Given the description of an element on the screen output the (x, y) to click on. 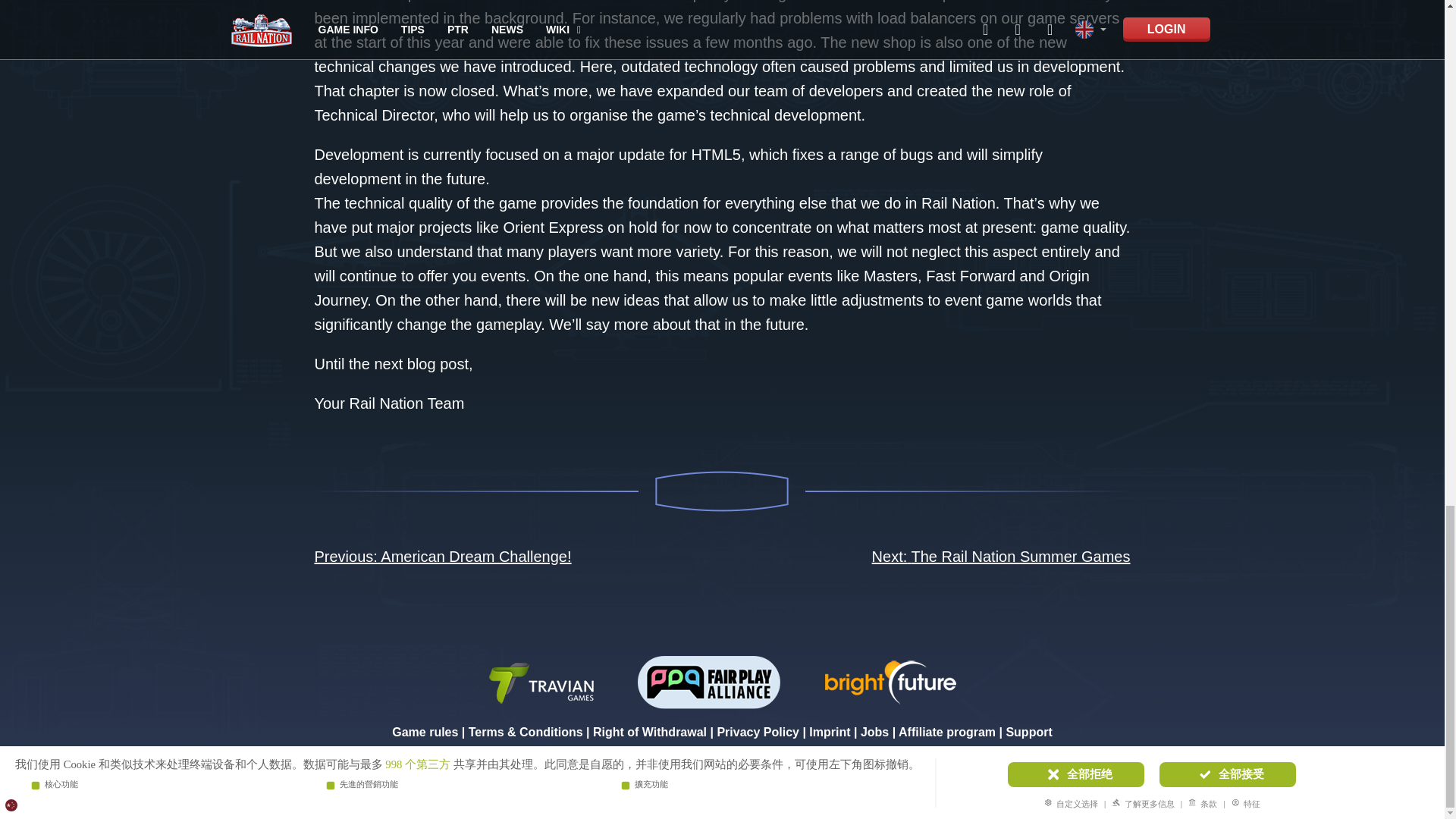
Fair Play Alliance (707, 681)
Here, you will find the Privacy Policy of Travian Games GmbH (757, 731)
Click here to visit the Travian Games GmbH website (540, 681)
Right of Withdrawal (649, 731)
Here you can find the current game rules. (424, 731)
Click here to visit the Bright Future GmbH website (889, 681)
Here, you will find the Imprint for Rail Nation (829, 731)
Jobs (874, 731)
